Given the description of an element on the screen output the (x, y) to click on. 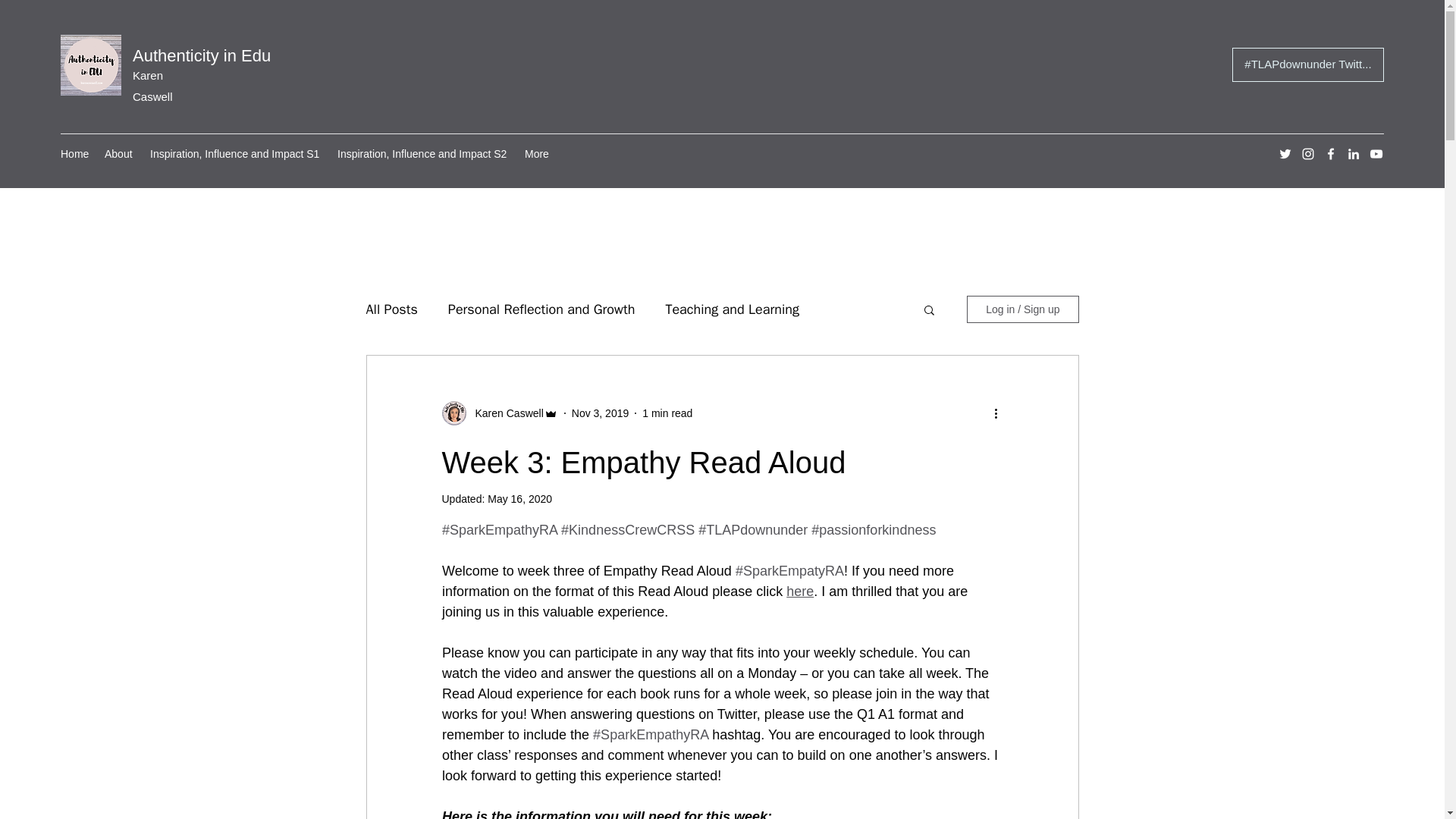
All Posts (390, 309)
Inspiration, Influence and Impact S2 (423, 153)
Authenticity in Edu (201, 55)
Inspiration, Influence and Impact S1 (236, 153)
Karen Caswell  (504, 413)
Home (74, 153)
Nov 3, 2019 (600, 413)
Personal Reflection and Growth (541, 309)
1 min read (667, 413)
Teaching and Learning (732, 309)
here (799, 590)
May 16, 2020 (519, 499)
About (119, 153)
